Given the description of an element on the screen output the (x, y) to click on. 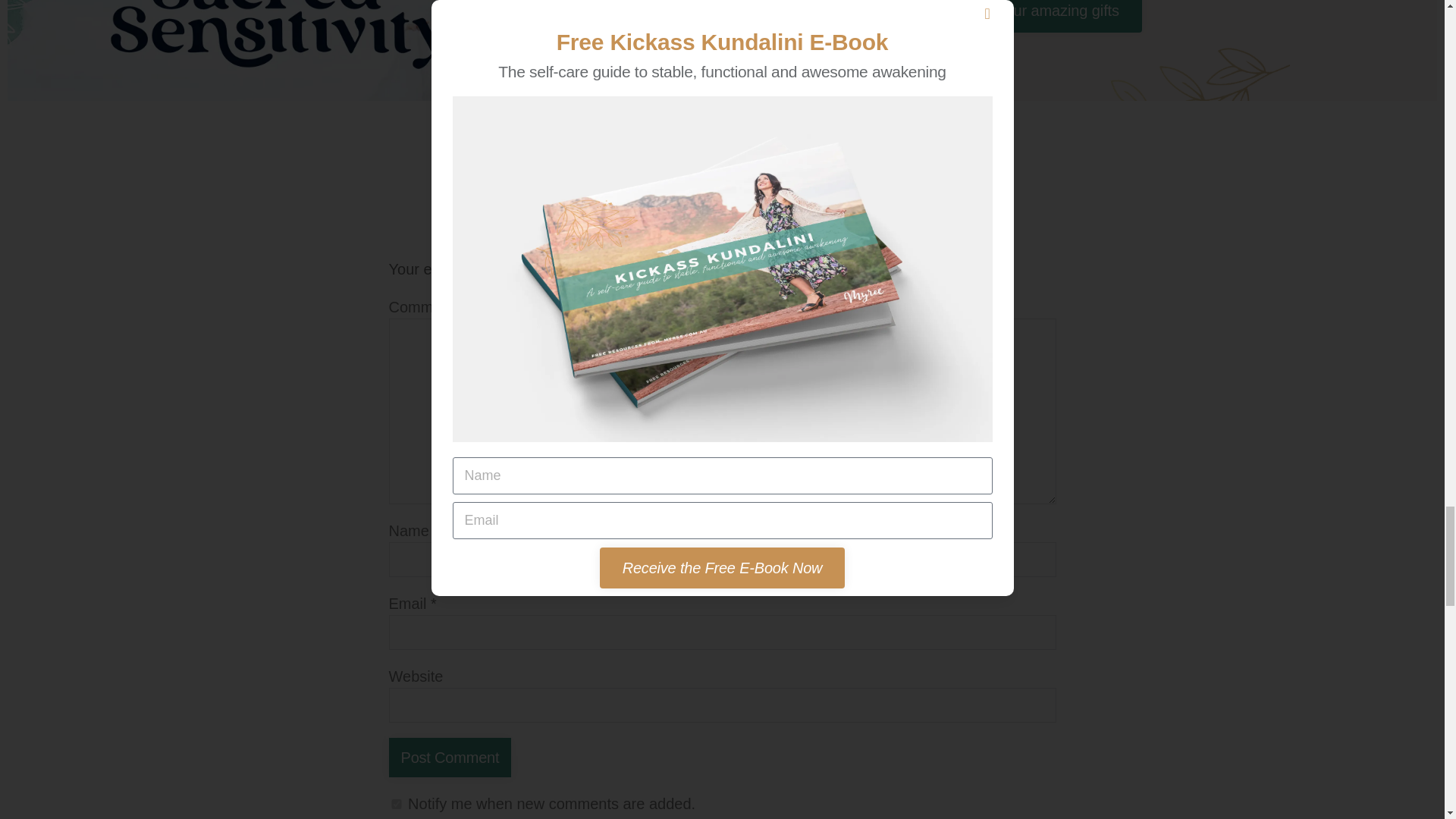
Post Comment (449, 757)
1 (395, 804)
